Given the description of an element on the screen output the (x, y) to click on. 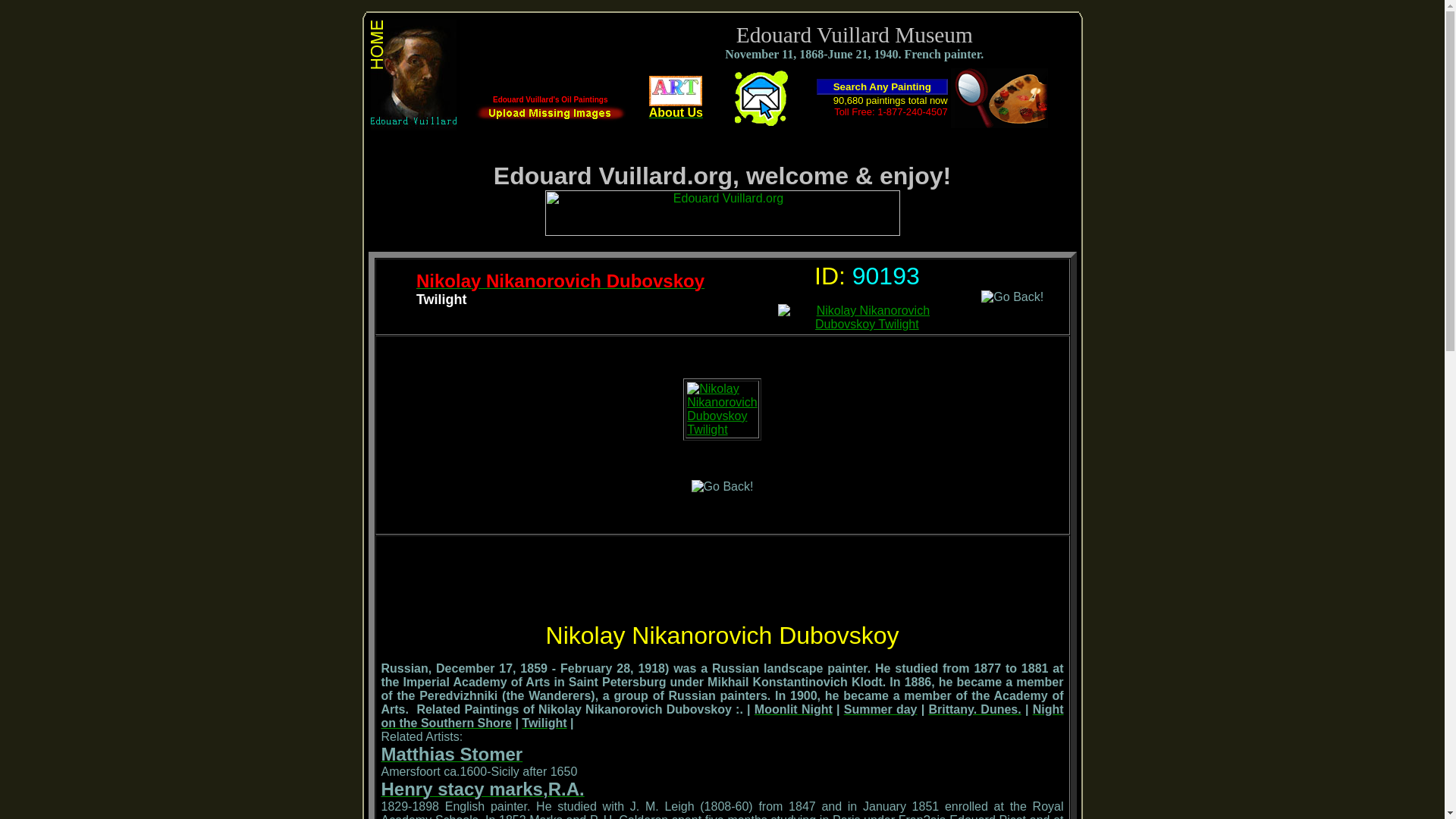
Nikolay Nikanorovich Dubovskoy (560, 282)
Night on the Southern Shore (721, 715)
Henry stacy marks,R.A. (481, 790)
Moonlit Night (793, 708)
Brittany. Dunes. (974, 708)
Matthias Stomer (451, 756)
Search Any Painting (881, 86)
Twilight (543, 722)
Summer day (880, 708)
About Us (676, 106)
